Given the description of an element on the screen output the (x, y) to click on. 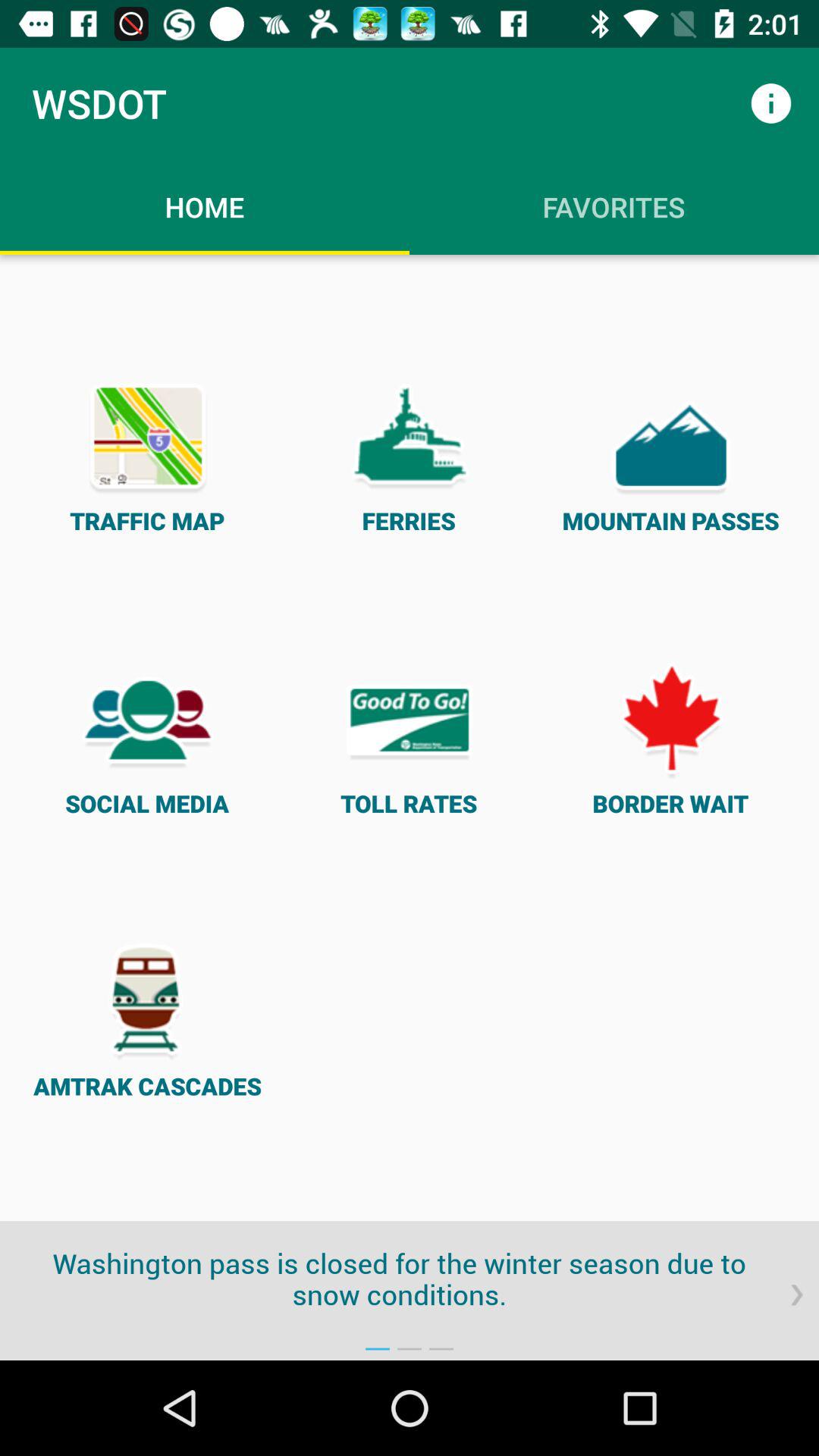
press item next to the social media item (409, 737)
